Given the description of an element on the screen output the (x, y) to click on. 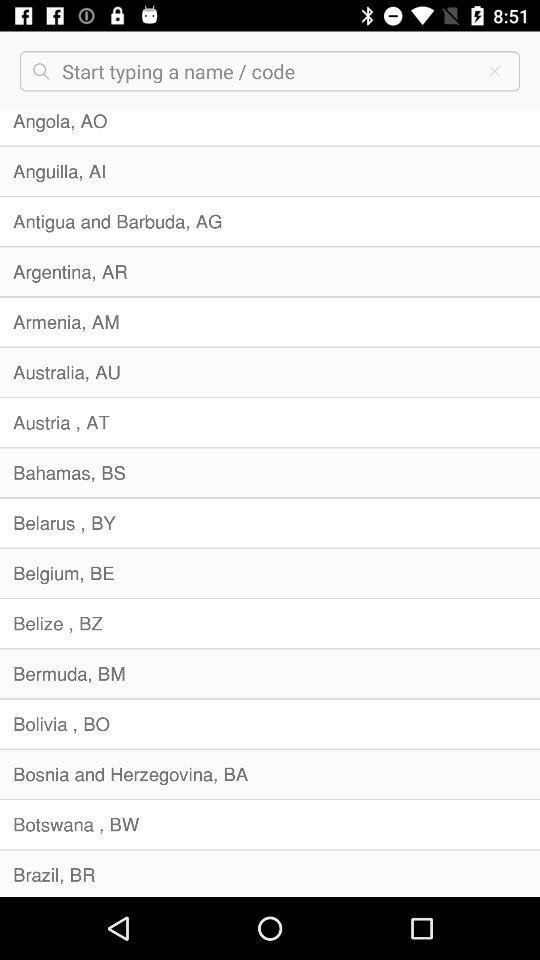
click item above bolivia , bo icon (270, 673)
